Given the description of an element on the screen output the (x, y) to click on. 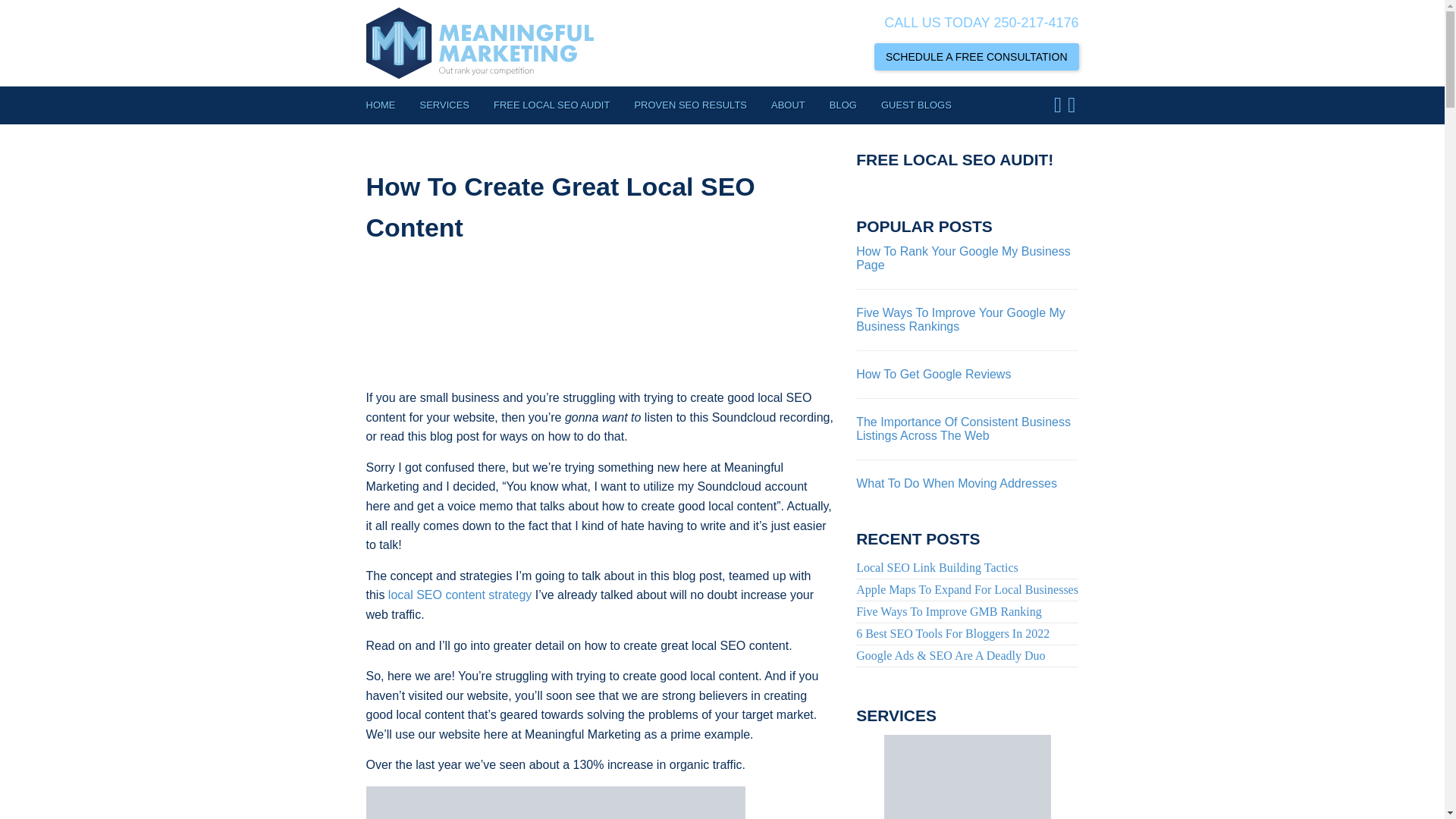
SERVICES (444, 105)
FREE LOCAL SEO AUDIT (551, 105)
HOME (386, 105)
PROVEN SEO RESULTS (689, 105)
Learn more about our SEO service (967, 776)
local SEO content strategy (459, 594)
ABOUT (787, 105)
SCHEDULE A FREE CONSULTATION (976, 56)
CALL US TODAY 250-217-4176 (980, 23)
GUEST BLOGS (916, 105)
